Given the description of an element on the screen output the (x, y) to click on. 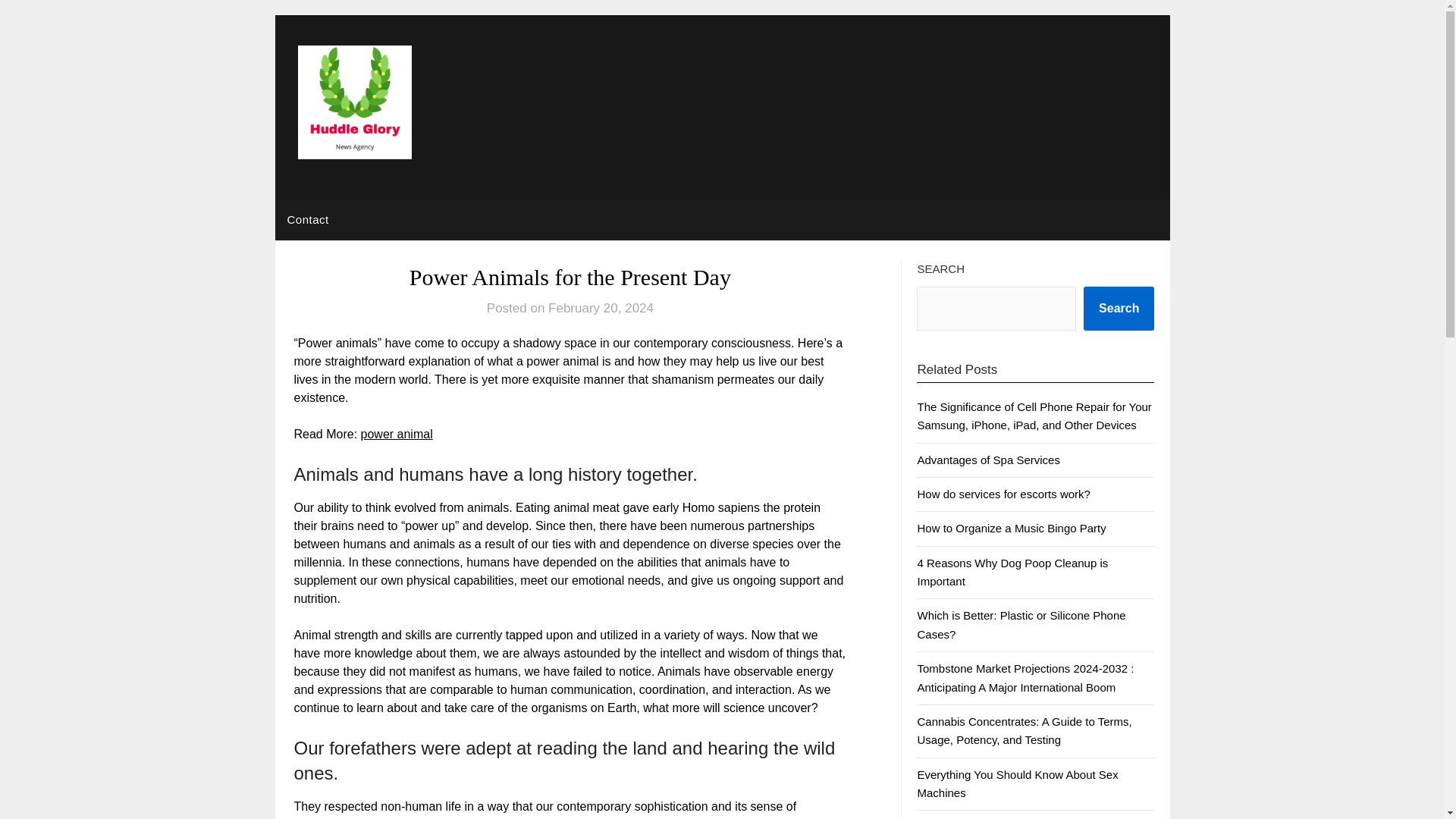
Contact (307, 219)
4 Reasons Why Dog Poop Cleanup is Important (1012, 572)
How to Organize a Music Bingo Party (1011, 527)
Everything You Should Know About Sex Machines (1017, 783)
power animal (396, 433)
Advantages of Spa Services (988, 459)
How do services for escorts work? (1003, 493)
Search (1118, 308)
Which is Better: Plastic or Silicone Phone Cases? (1021, 624)
